Given the description of an element on the screen output the (x, y) to click on. 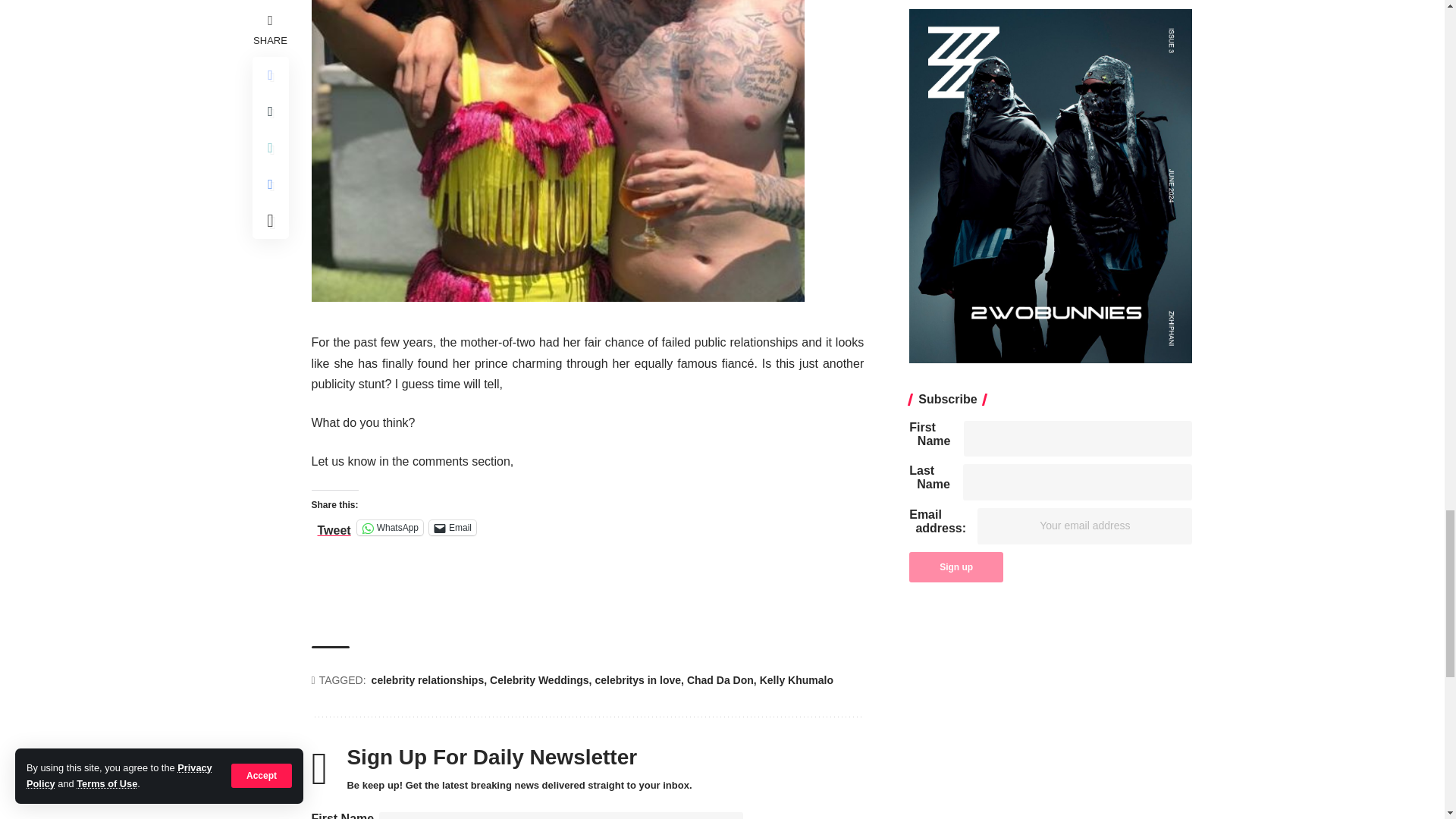
Click to email a link to a friend (452, 527)
Click to share on WhatsApp (389, 527)
